Given the description of an element on the screen output the (x, y) to click on. 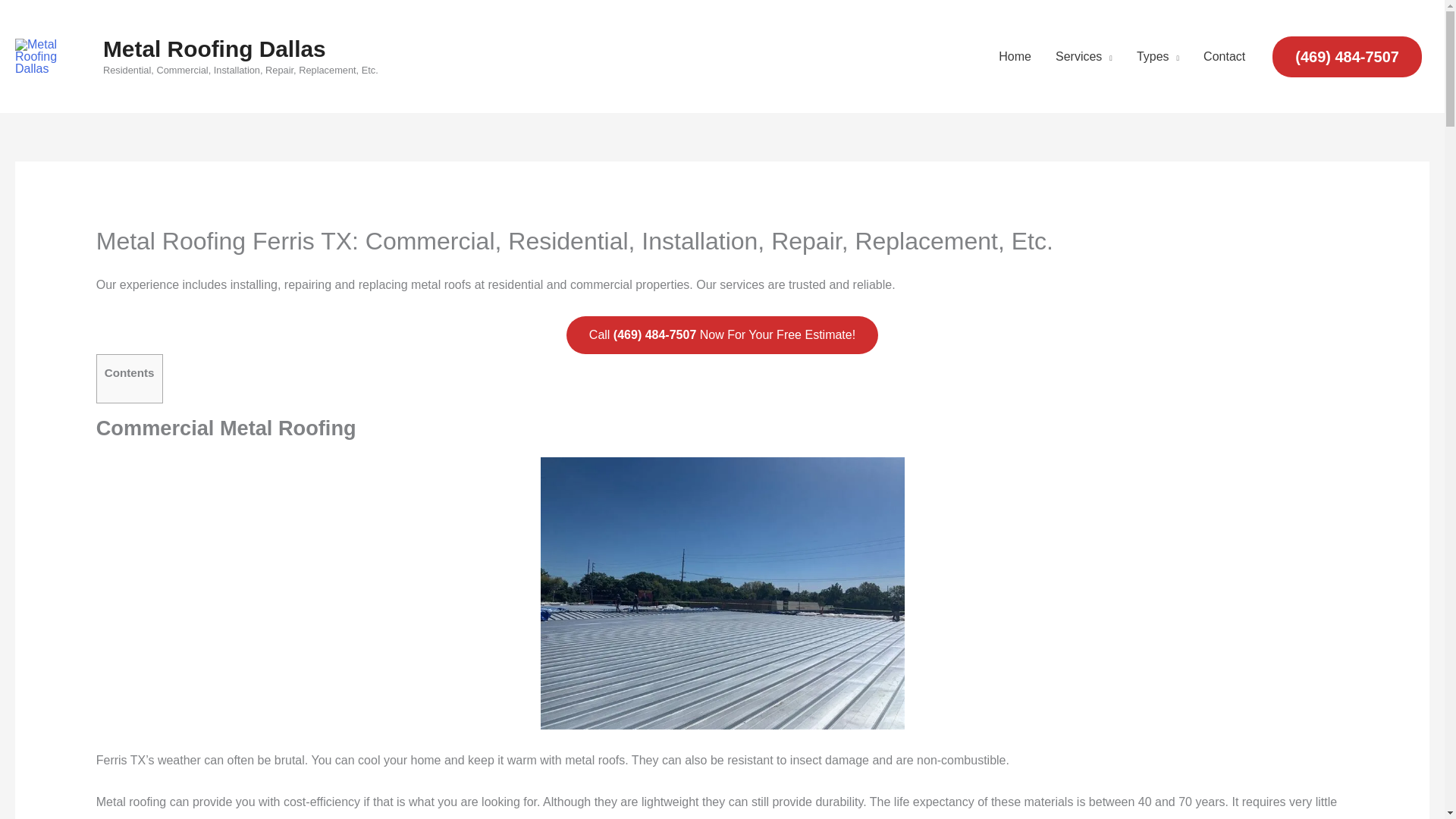
Metal Roofing Dallas (214, 48)
Home (1015, 56)
Contact (1224, 56)
Services (1083, 56)
Types (1157, 56)
